Given the description of an element on the screen output the (x, y) to click on. 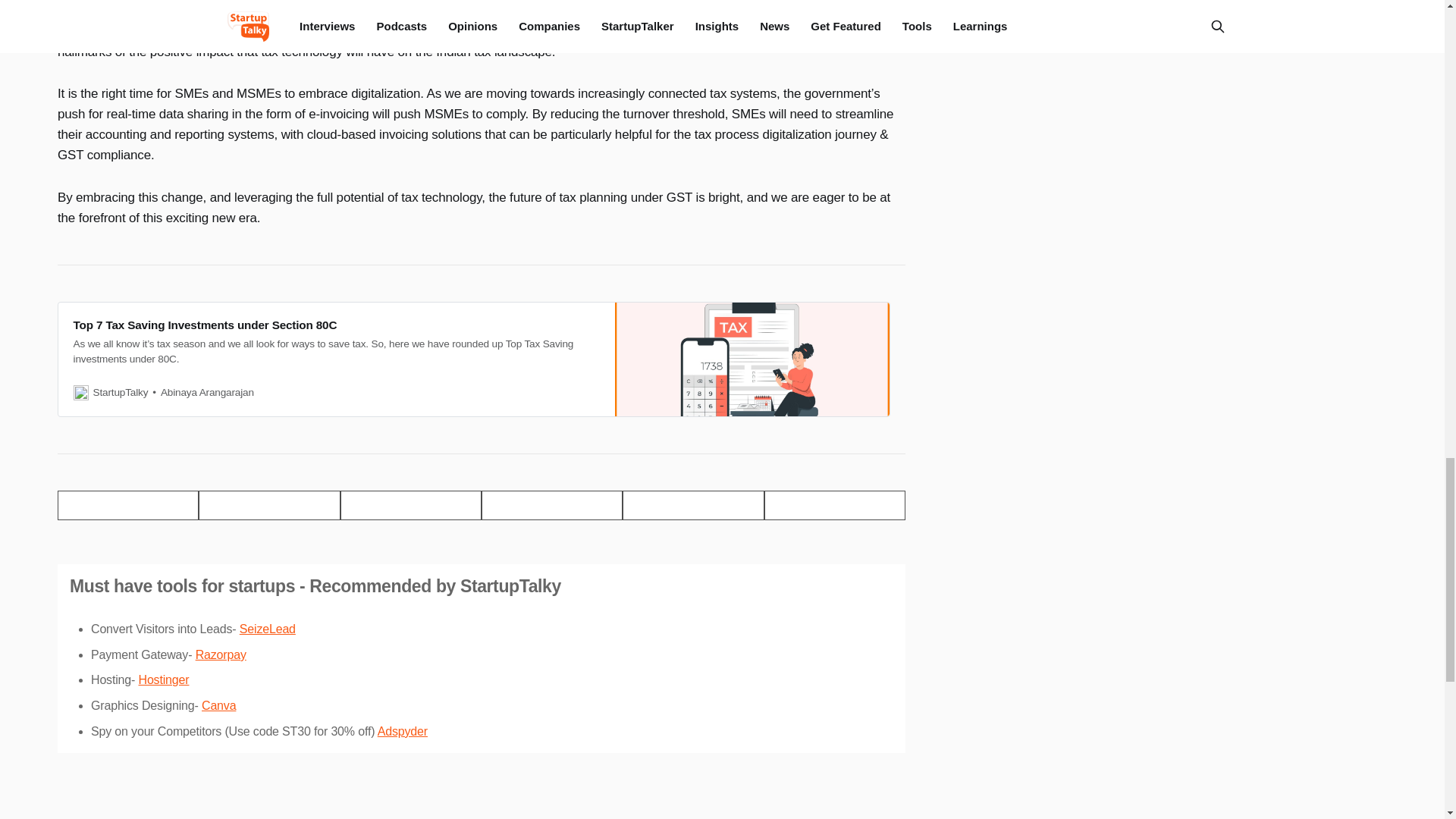
Share on Facebook (268, 505)
Hostinger (163, 679)
real-time invoicing (183, 30)
Adspyder (402, 730)
Share on Twitter (128, 505)
Bookmark (834, 505)
Razorpay (220, 654)
Share by email (552, 505)
SeizeLead (267, 628)
Canva (218, 705)
